Given the description of an element on the screen output the (x, y) to click on. 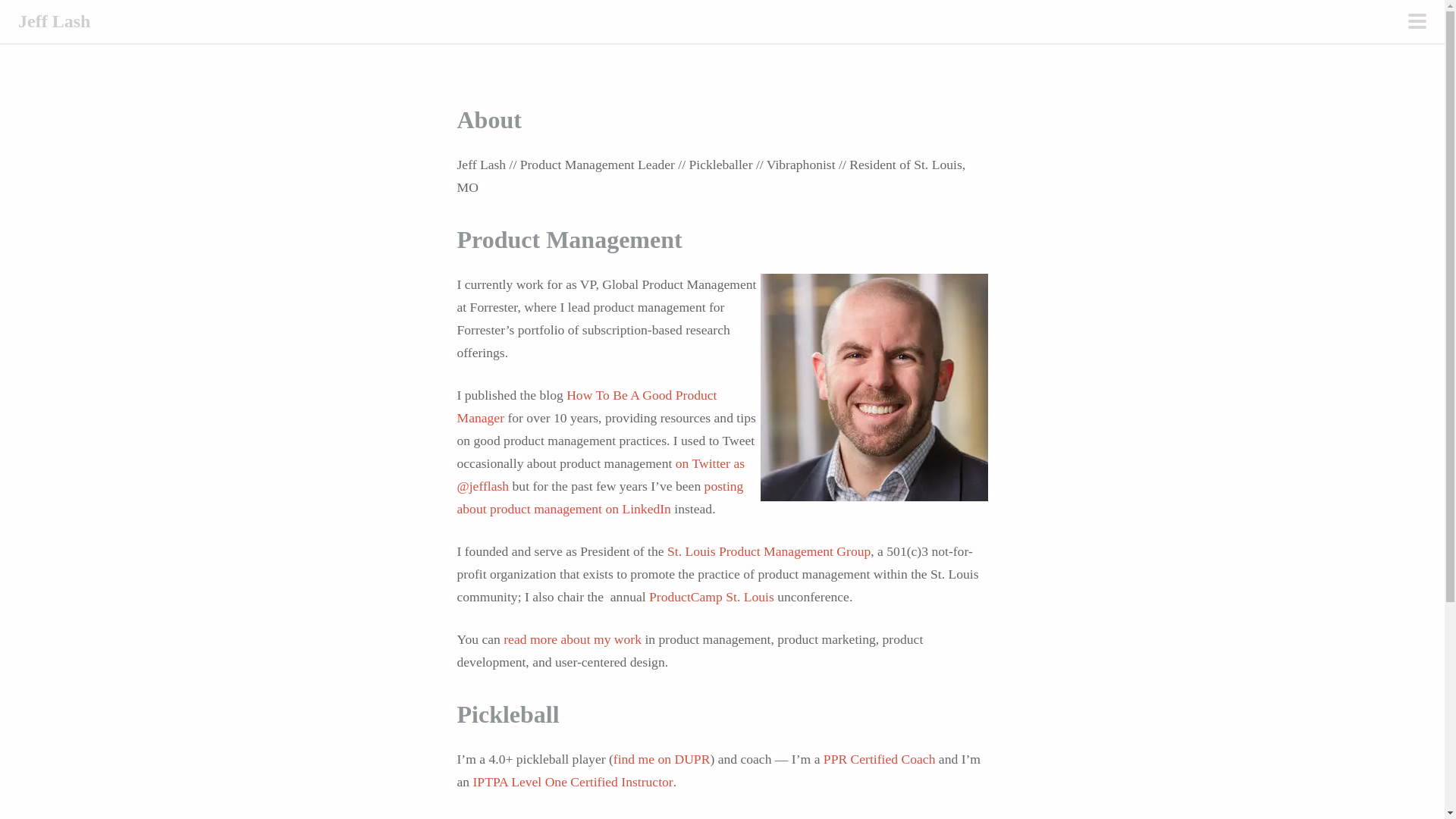
ProductCamp St. Louis (711, 596)
posting about product management on LinkedIn (599, 497)
IPTPA Level One Certified Instructor (572, 781)
Photo of Jeff Lash (873, 387)
PPR Certified Coach (880, 758)
St. Louis Product Management Group (768, 550)
Search (25, 12)
find me on DUPR (661, 758)
primary menu (1416, 22)
read more about my work (572, 639)
Jeff Lash (53, 21)
How To Be A Good Product Manager (586, 406)
